Given the description of an element on the screen output the (x, y) to click on. 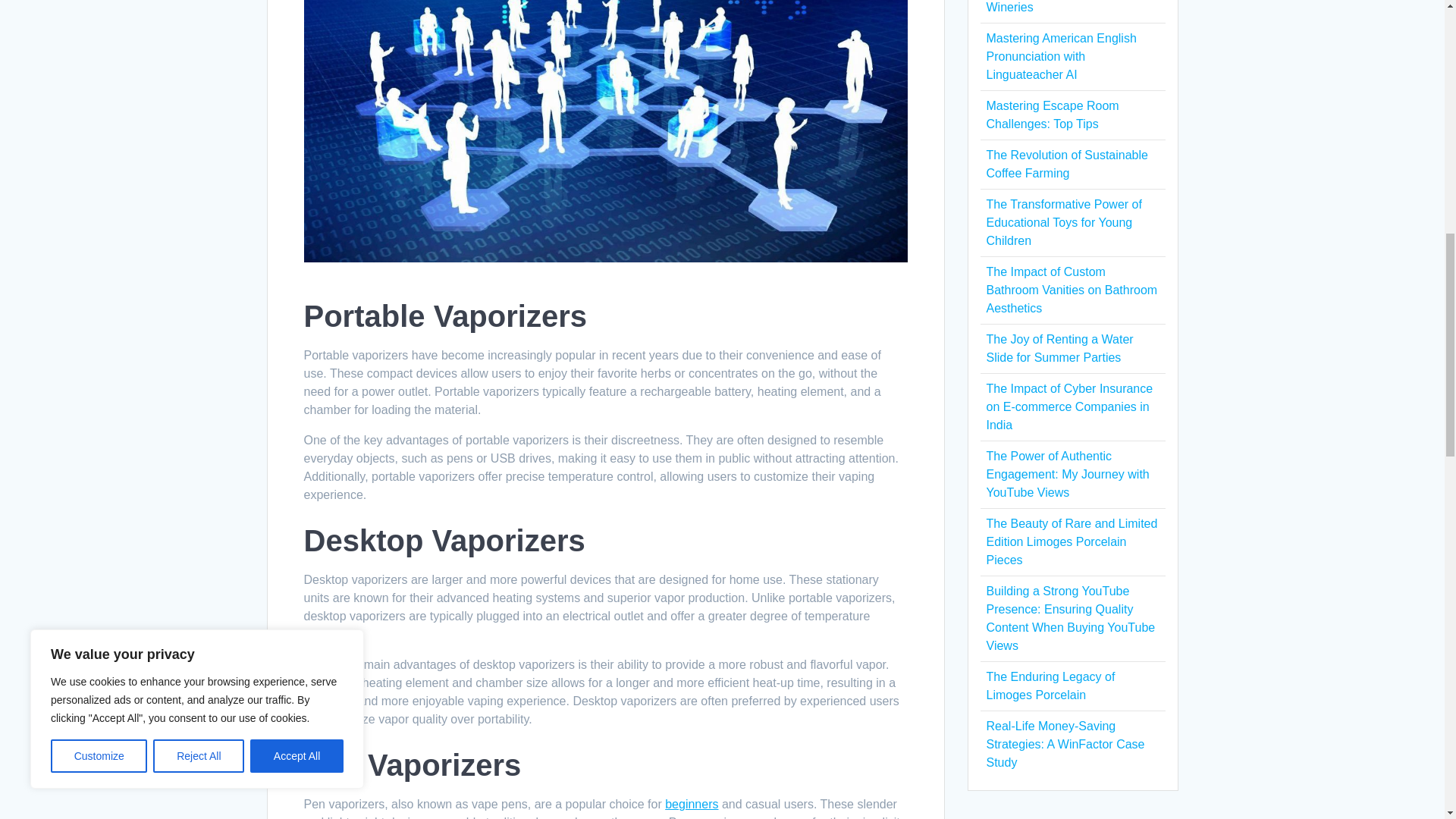
The Revolution of Sustainable Coffee Farming (1066, 163)
beginners (691, 803)
Mastering Escape Room Challenges: Top Tips (1051, 114)
